Given the description of an element on the screen output the (x, y) to click on. 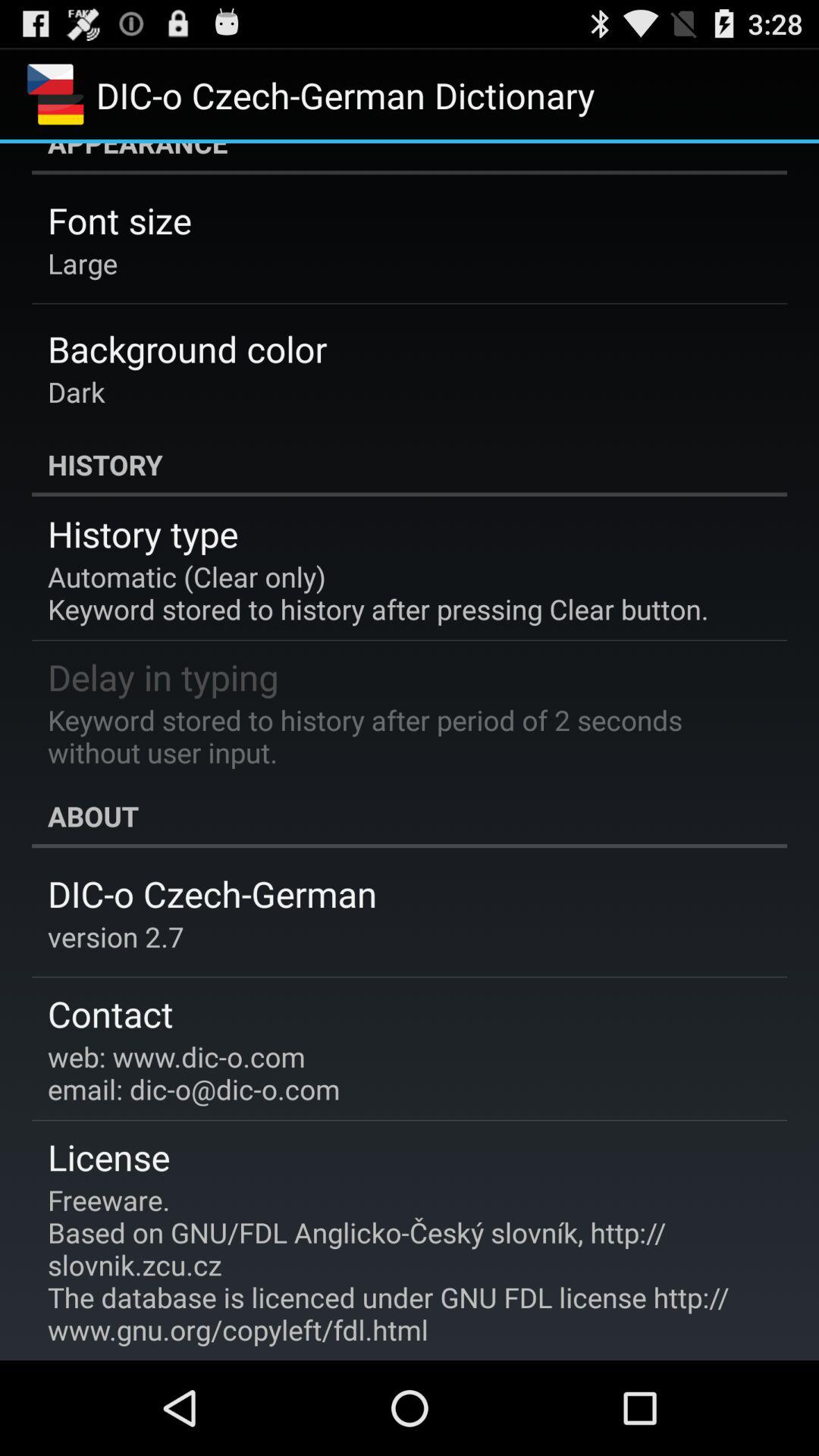
click the item below license item (399, 1264)
